Given the description of an element on the screen output the (x, y) to click on. 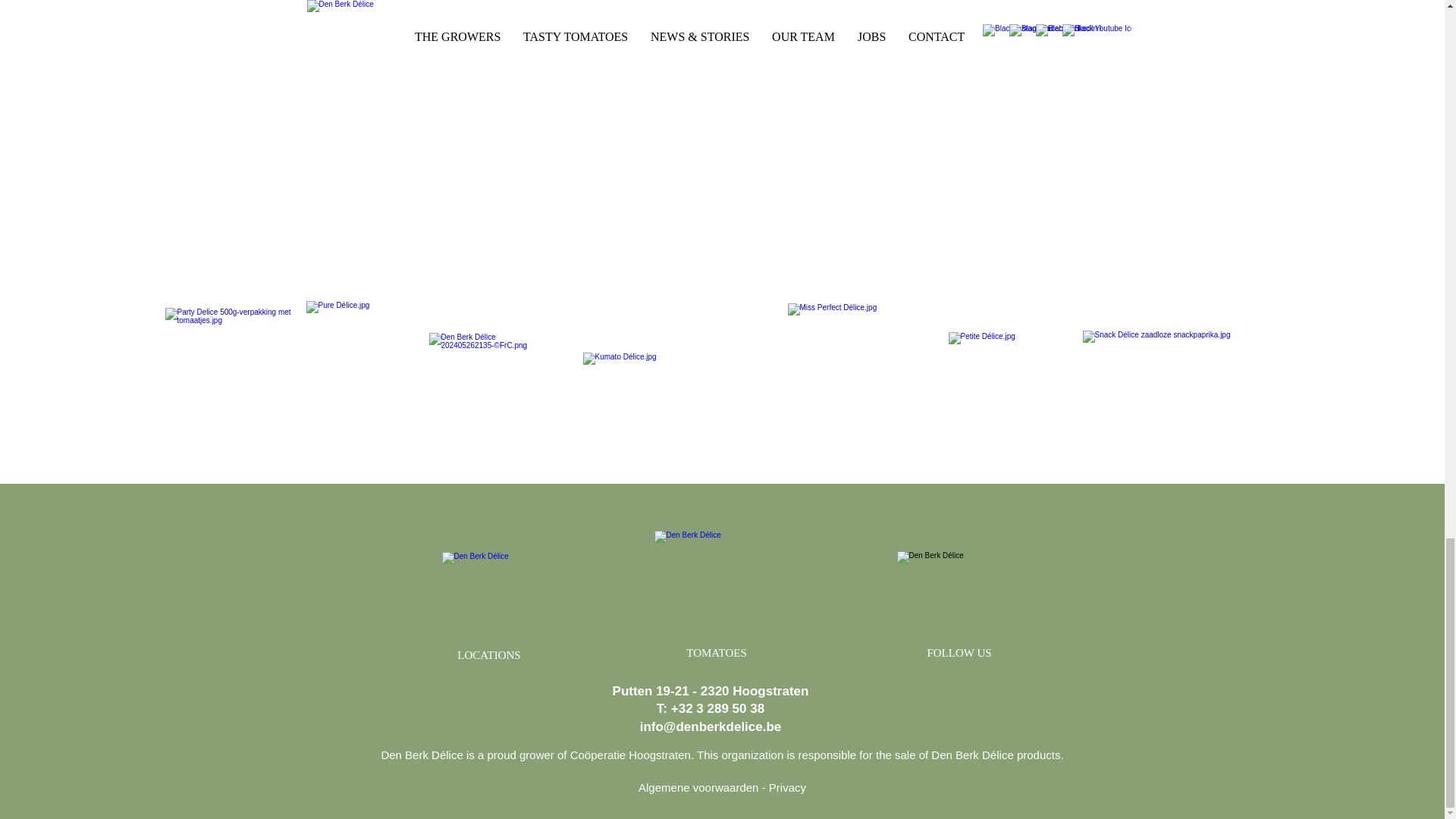
FOLLOW US (959, 653)
TOMATOES (715, 653)
LOCATIONS (488, 655)
